Given the description of an element on the screen output the (x, y) to click on. 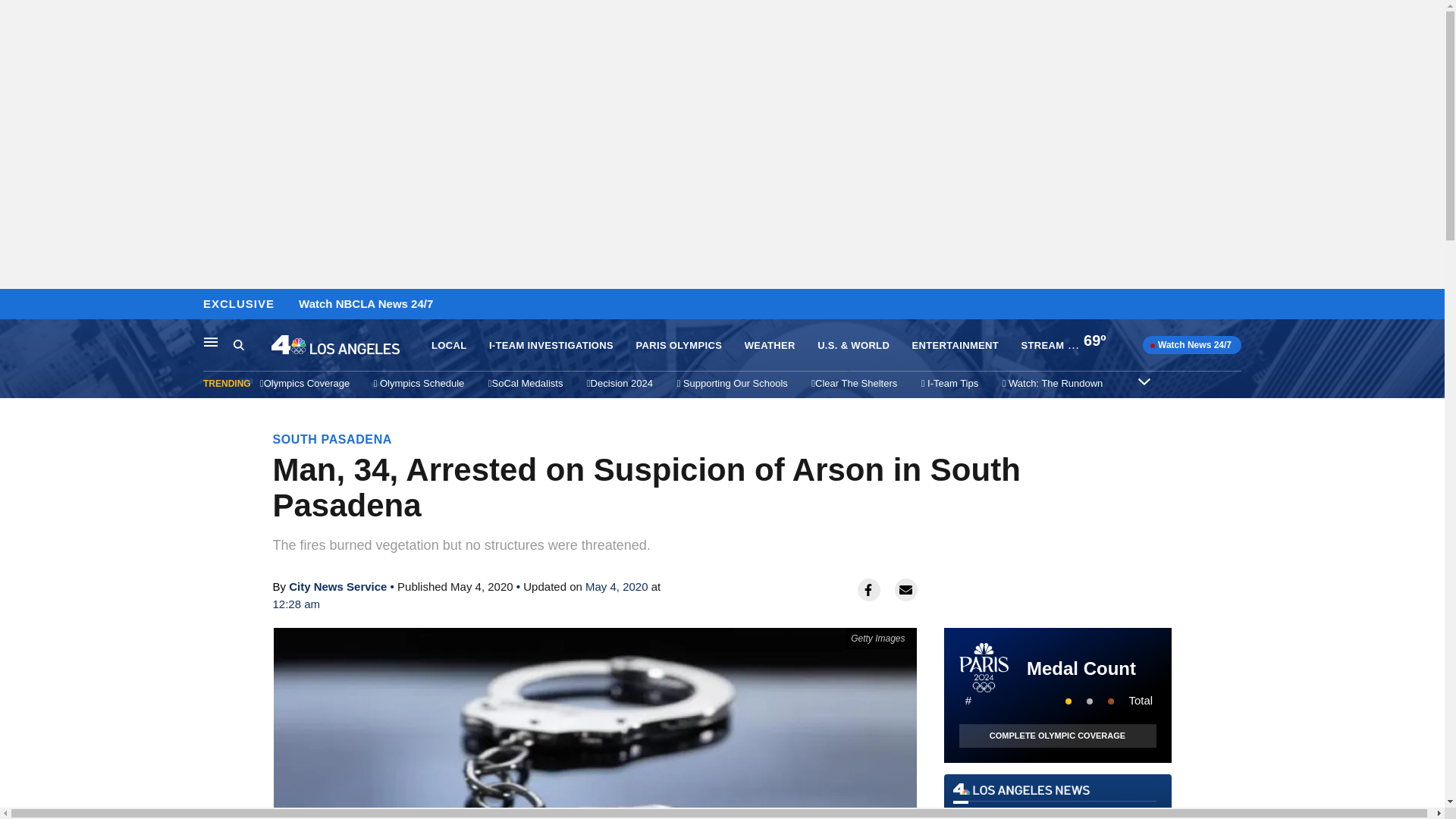
Skip to content (16, 304)
WEATHER (769, 345)
Search (238, 344)
Main Navigation (210, 341)
LOCAL (447, 345)
Expand (1144, 381)
Search (252, 345)
PARIS OLYMPICS (678, 345)
City News Service (337, 585)
SOUTH PASADENA (332, 439)
COMPLETE OLYMPIC COVERAGE (1057, 735)
I-TEAM INVESTIGATIONS (550, 345)
ENTERTAINMENT (1056, 800)
